Given the description of an element on the screen output the (x, y) to click on. 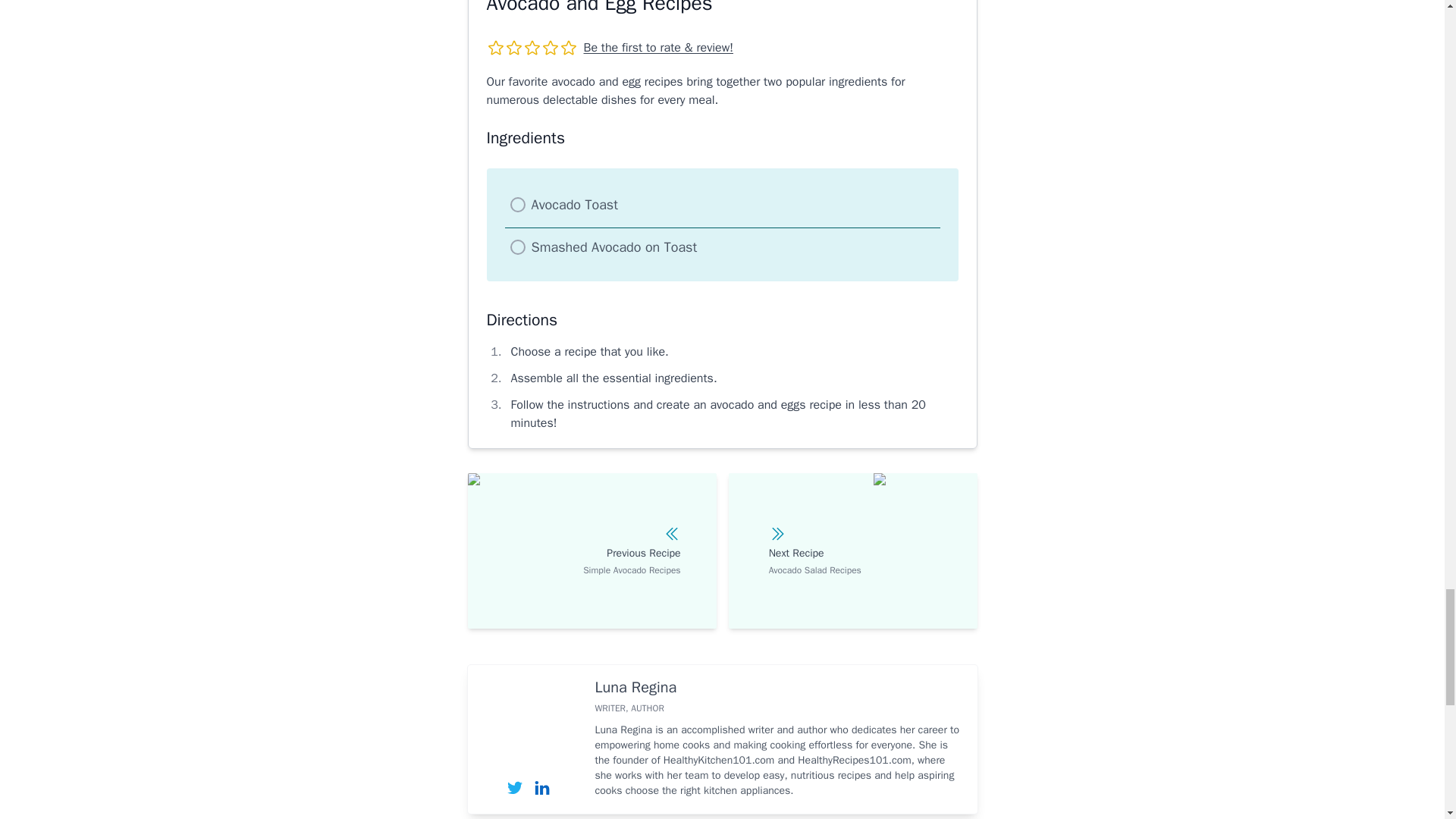
twitter Luna Regina (513, 787)
Luna Regina (635, 687)
Simple Avocado Recipes (591, 550)
Smashed Avocado on Toast (614, 246)
Avocado Toast (574, 204)
Avocado Salad Recipes (852, 550)
linkedIn Luna Regina (540, 787)
